Given the description of an element on the screen output the (x, y) to click on. 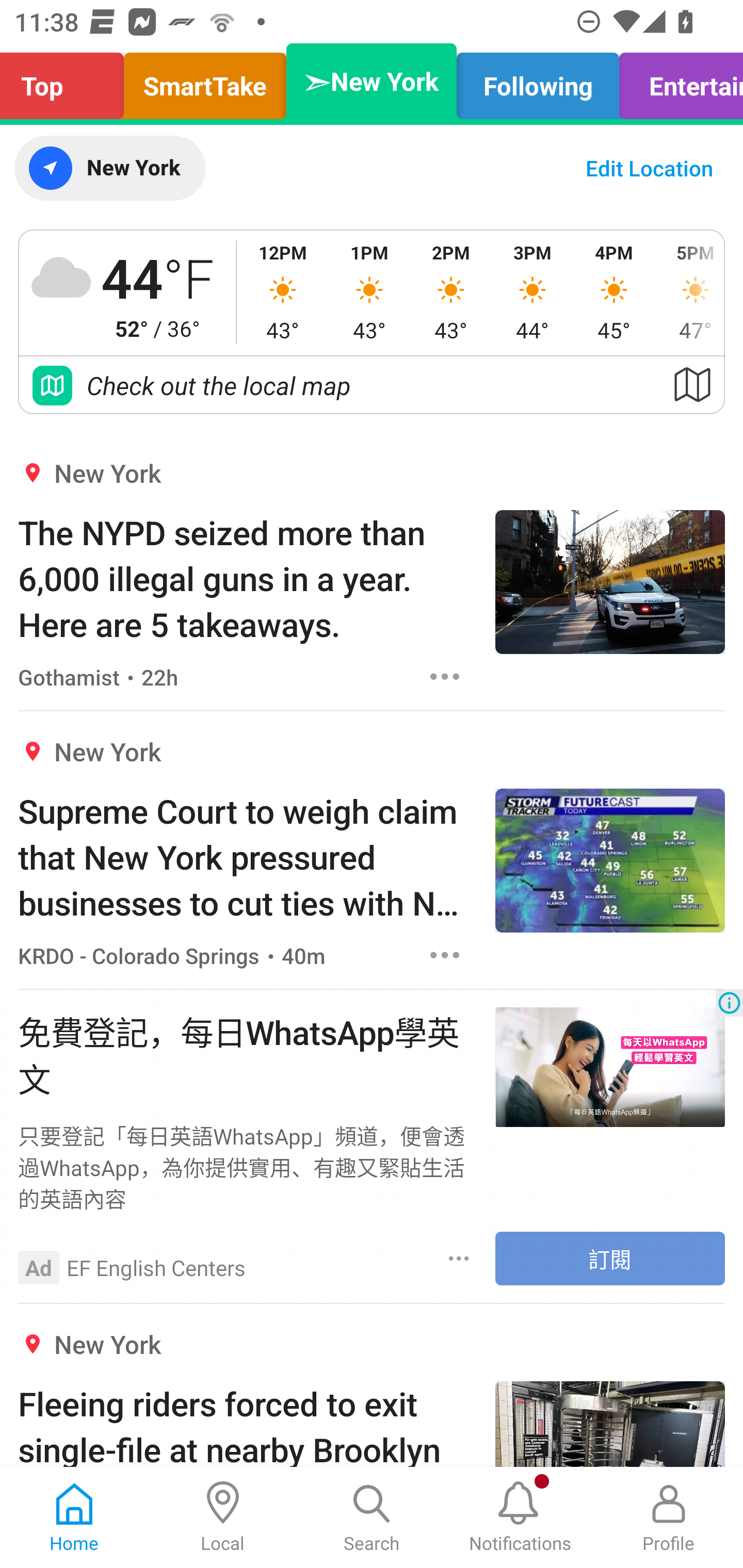
Top (67, 81)
SmartTake (204, 81)
➣New York (371, 81)
Following (537, 81)
New York (109, 168)
Edit Location (648, 168)
12PM 43° (282, 291)
1PM 43° (369, 291)
2PM 43° (450, 291)
3PM 44° (532, 291)
4PM 45° (613, 291)
5PM 47° (689, 291)
Check out the local map (371, 384)
Options (444, 676)
Options (444, 954)
Ad Choices Icon (729, 1002)
免費登記，每日WhatsApp學英文 (247, 1053)
訂閱 (610, 1258)
Options (459, 1258)
EF English Centers (155, 1267)
Local (222, 1517)
Search (371, 1517)
Notifications, New notification Notifications (519, 1517)
Profile (668, 1517)
